Given the description of an element on the screen output the (x, y) to click on. 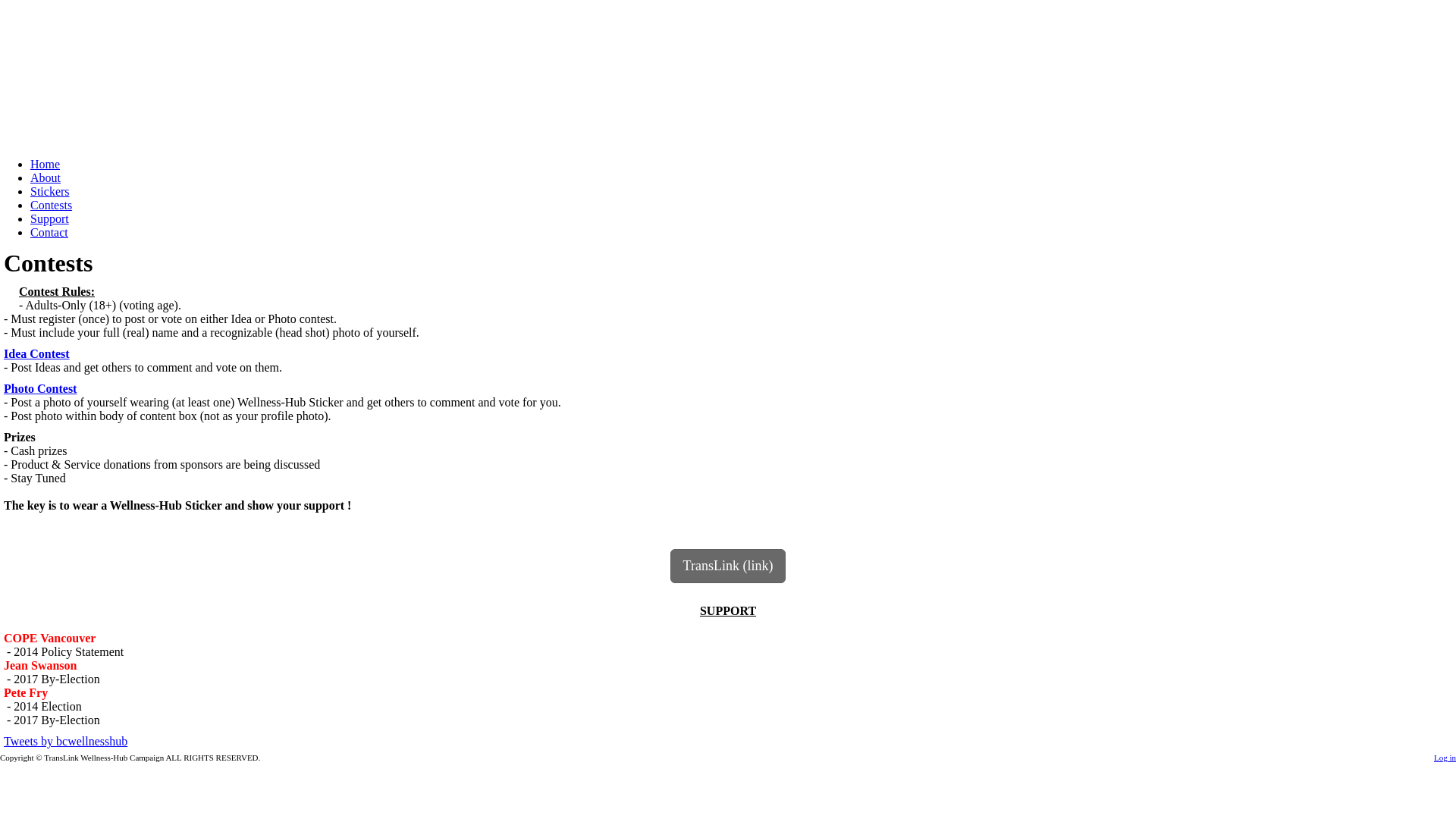
TransLink (link) Element type: text (728, 566)
Contact Element type: text (49, 231)
Contests Element type: text (51, 204)
Home Element type: text (44, 163)
About Element type: text (45, 177)
Idea Contest Element type: text (36, 353)
Photo Contest Element type: text (39, 388)
Tweets by bcwellnesshub Element type: text (65, 740)
Stickers Element type: text (49, 191)
Support Element type: text (49, 218)
